Given the description of an element on the screen output the (x, y) to click on. 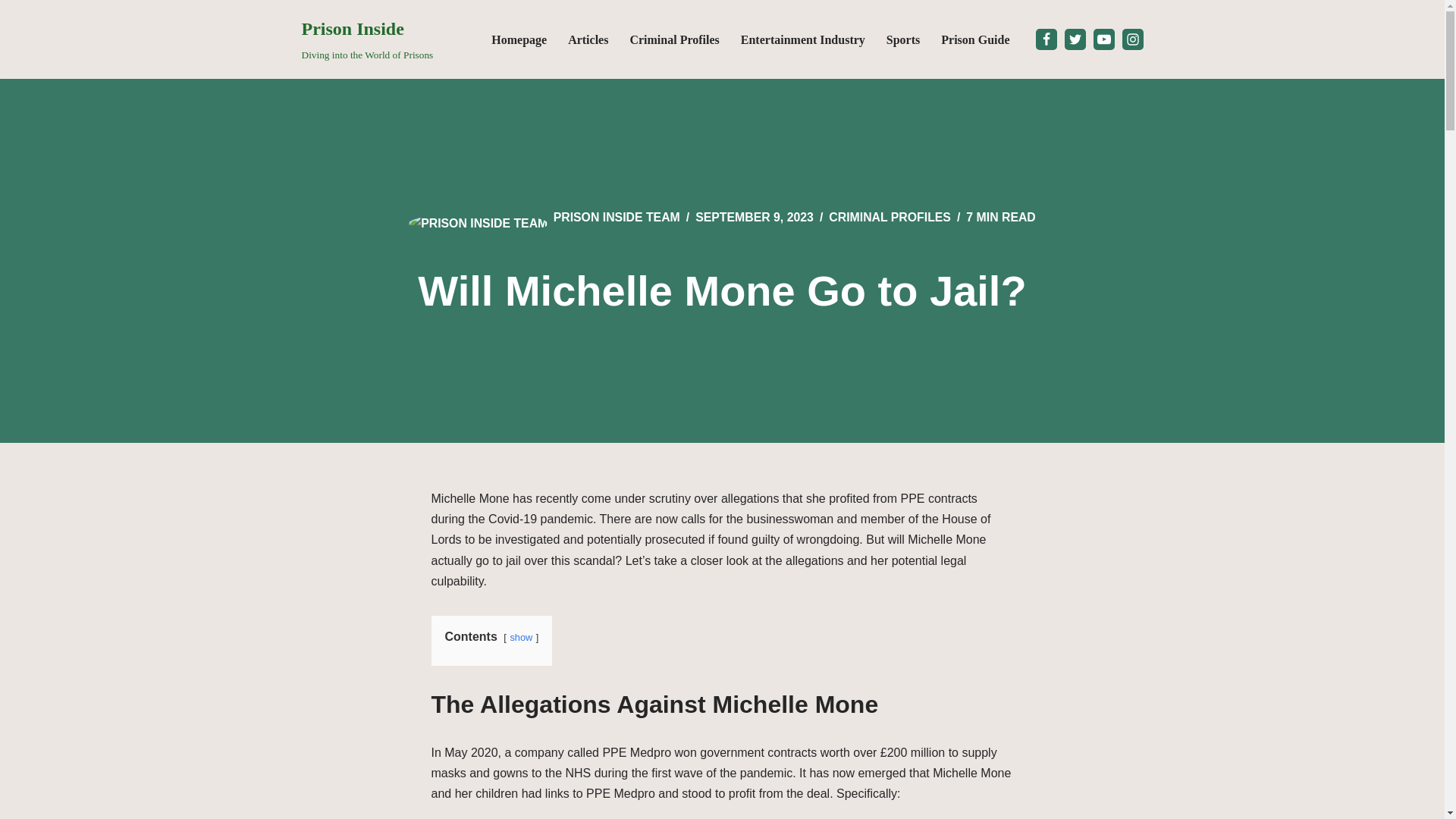
CRIMINAL PROFILES (889, 216)
Instagram (1132, 38)
Sports (367, 39)
Posts by Prison Inside Team (903, 39)
Twitter (616, 216)
Homepage (1075, 38)
Criminal Profiles (519, 39)
Youtube (673, 39)
Entertainment Industry (1104, 38)
